Given the description of an element on the screen output the (x, y) to click on. 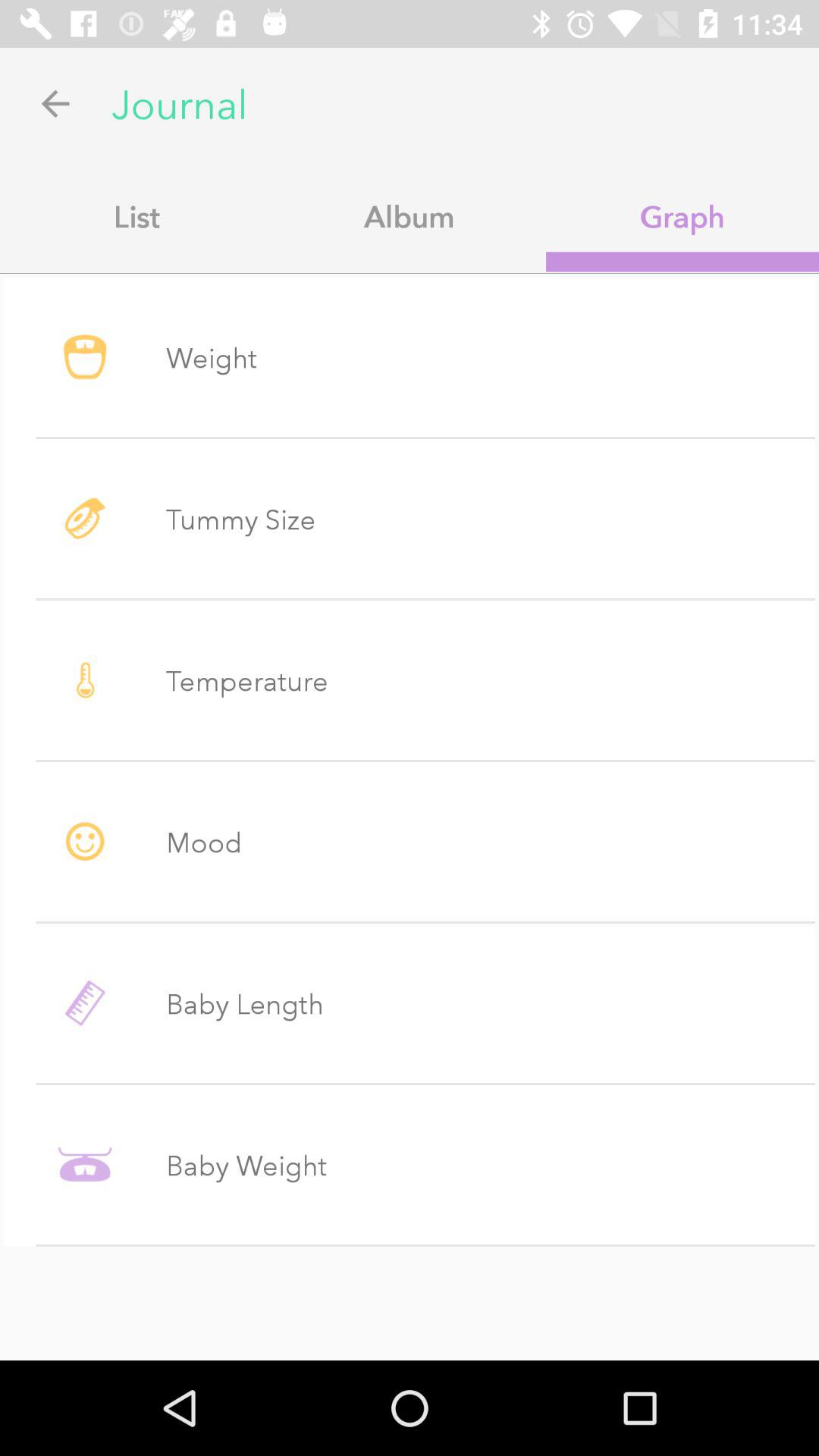
launch album icon (409, 216)
